Given the description of an element on the screen output the (x, y) to click on. 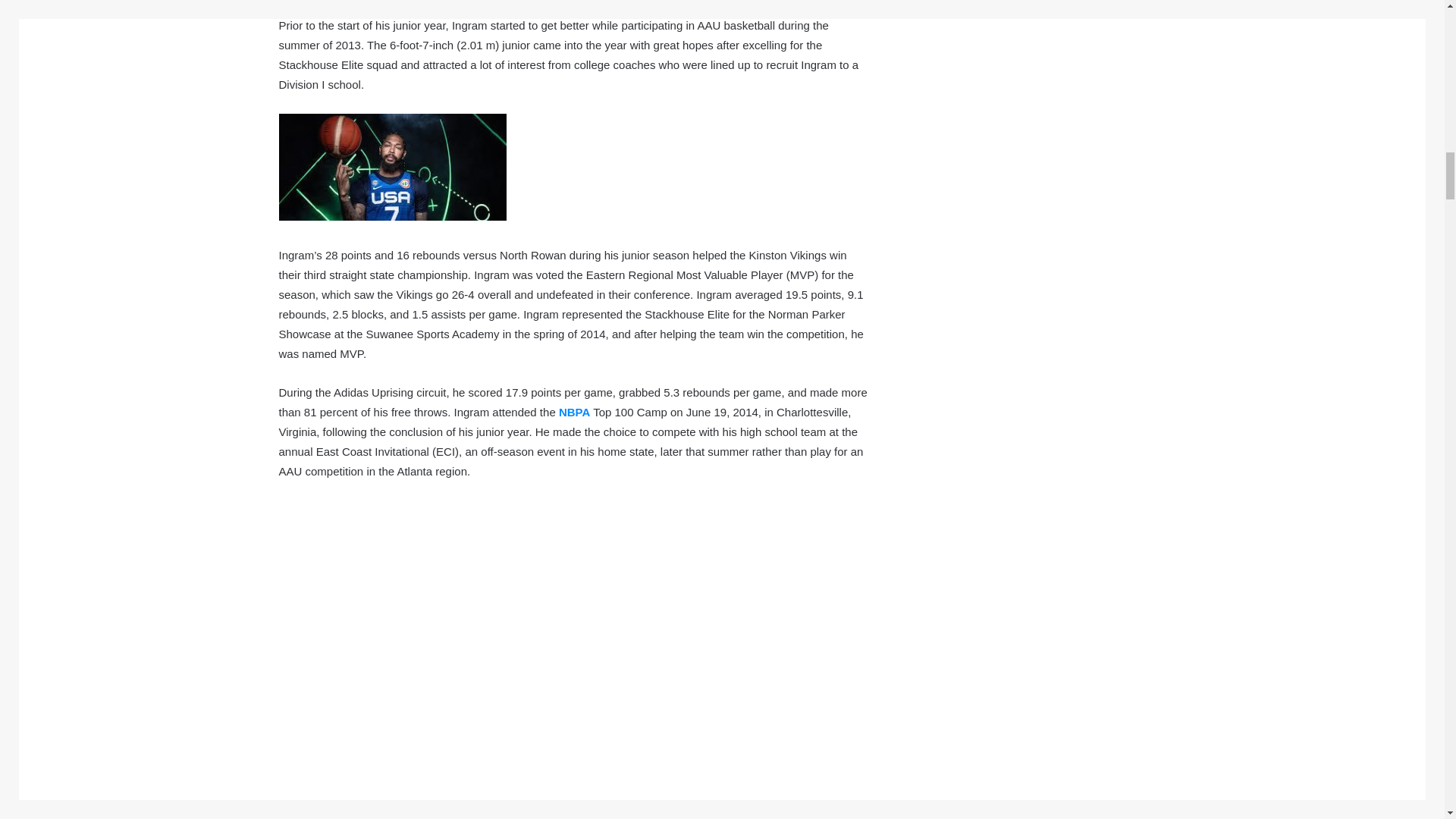
NBPA (574, 411)
